Given the description of an element on the screen output the (x, y) to click on. 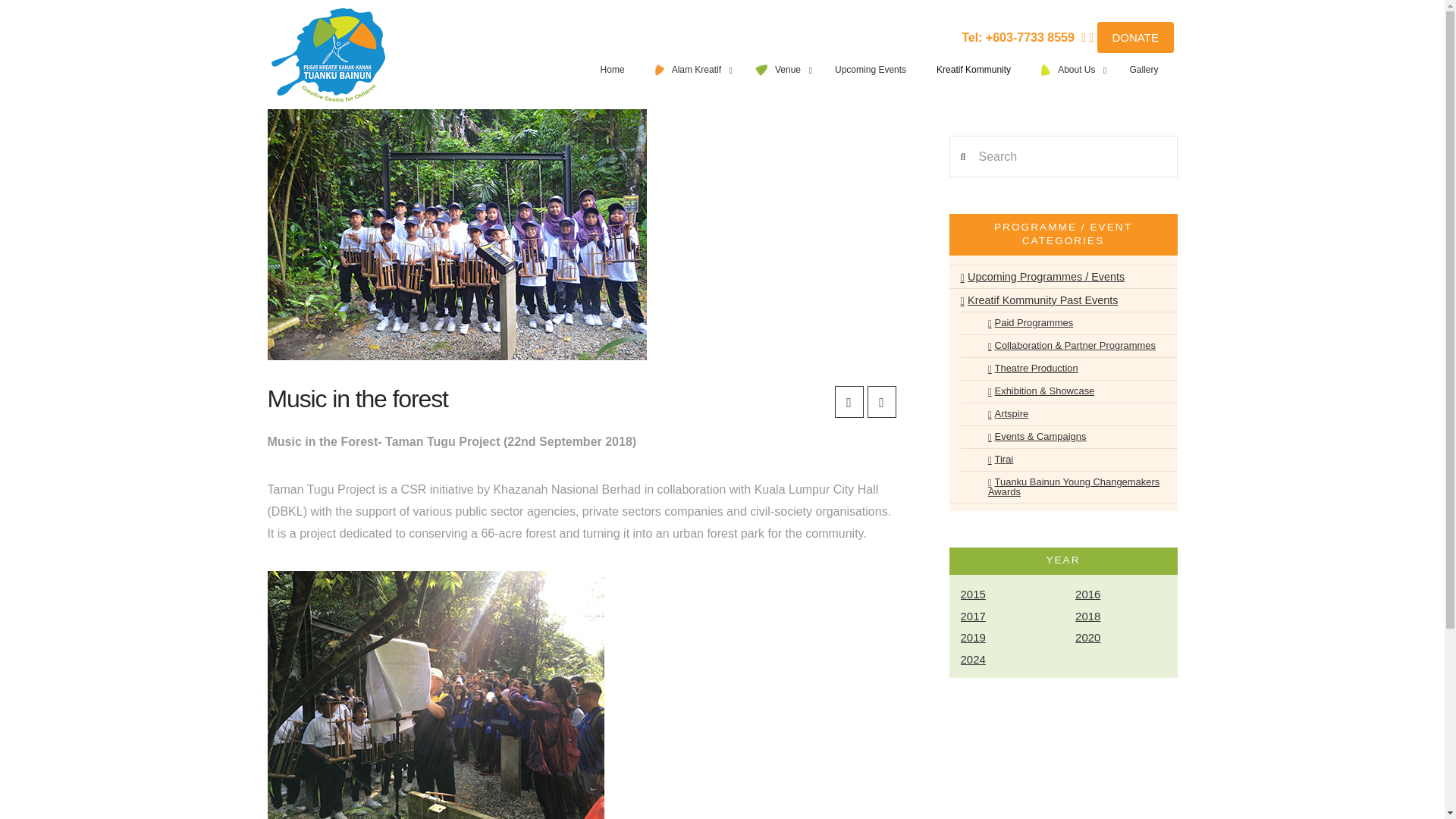
Artspire (1000, 414)
Theatre Production (1025, 368)
2015 (1010, 594)
2016 (1125, 594)
Upcoming Events (870, 70)
Tirai (992, 459)
Kreatif Kommunity Past Events (1038, 300)
Paid Programmes (1023, 323)
DONATE (1135, 37)
